Given the description of an element on the screen output the (x, y) to click on. 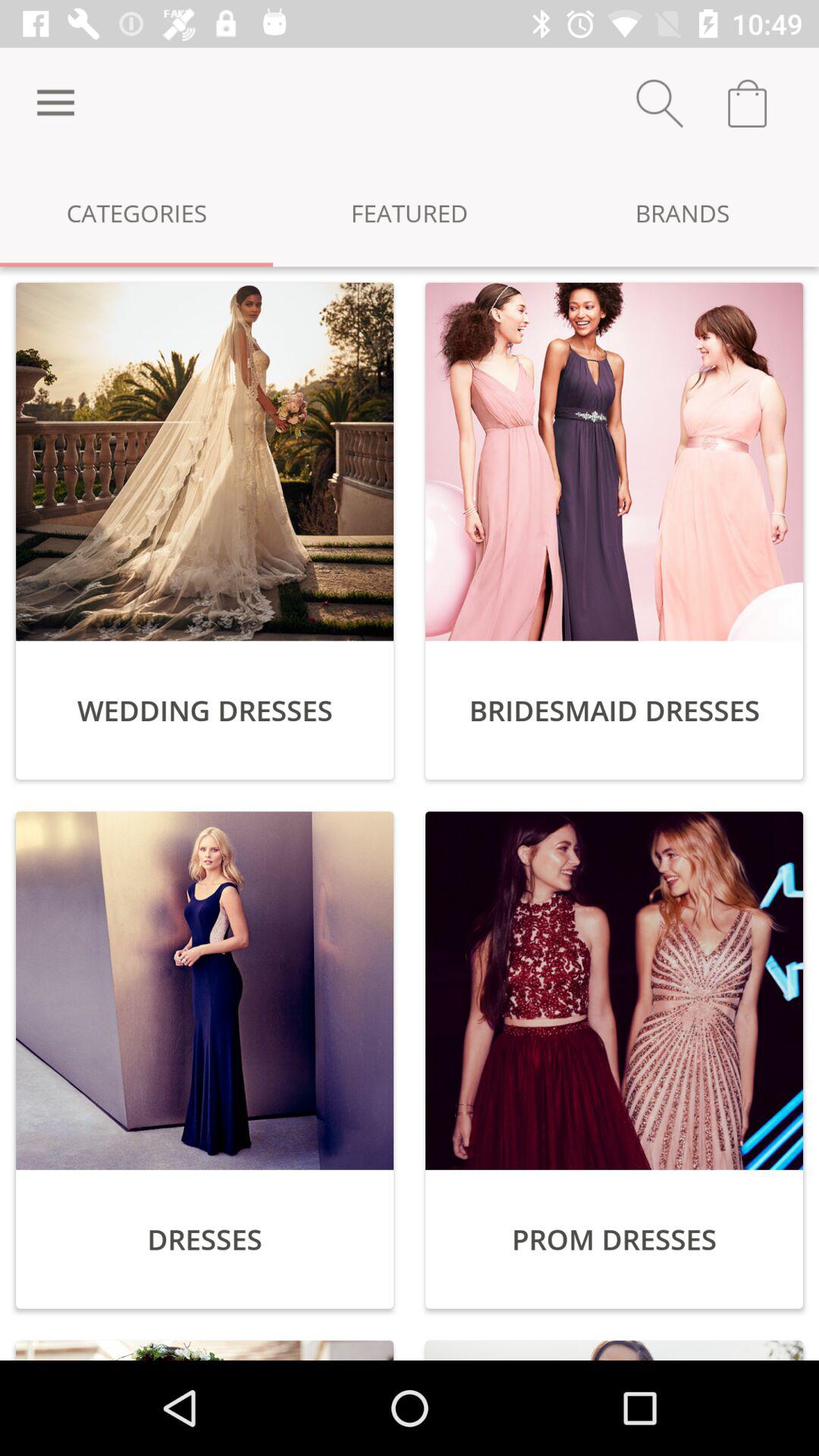
launch categories icon (136, 212)
